Given the description of an element on the screen output the (x, y) to click on. 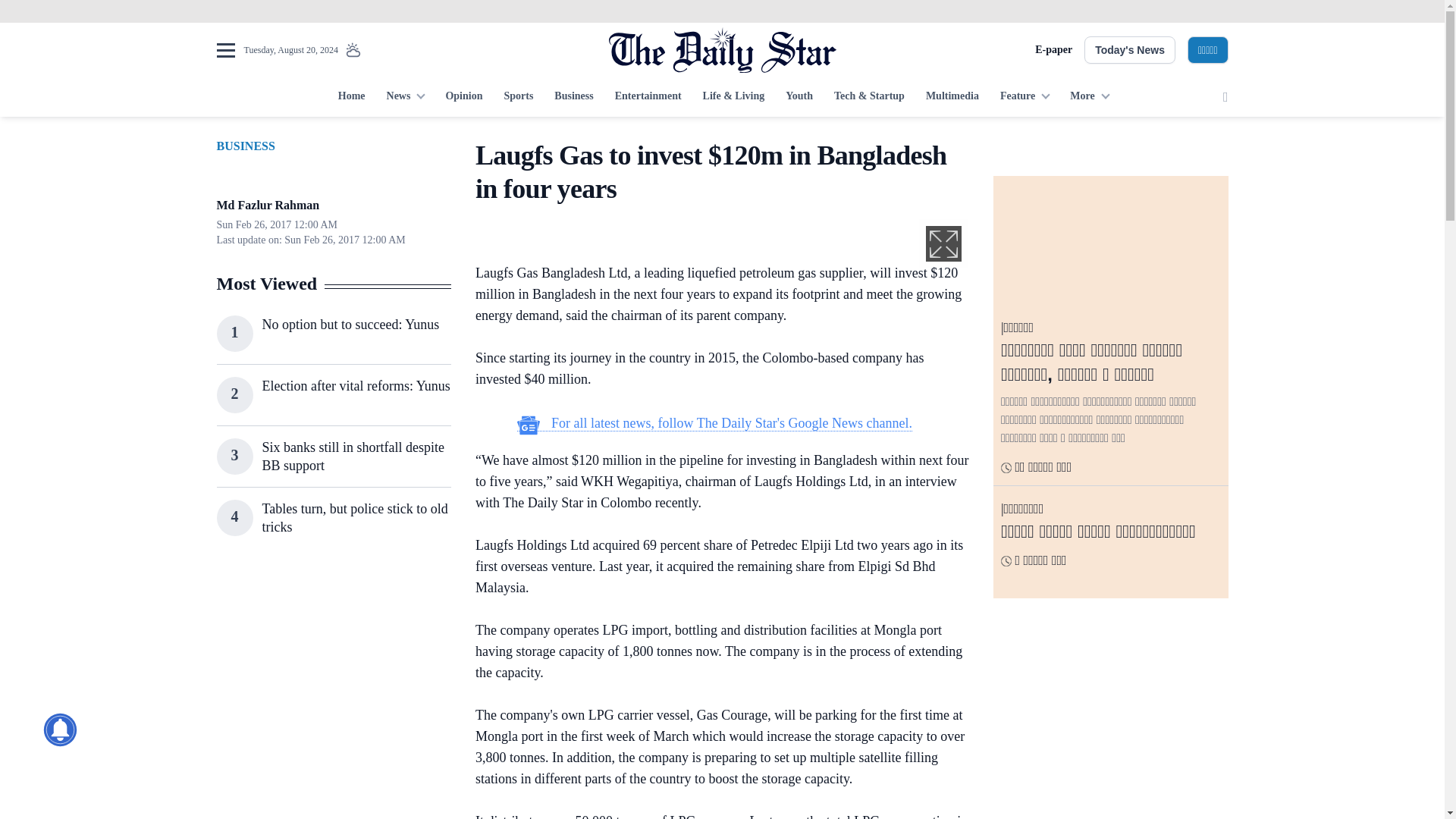
Multimedia (952, 96)
Feature (1024, 96)
Today's News (1129, 49)
E-paper (1053, 49)
Home (351, 96)
Sports (518, 96)
Opinion (463, 96)
Entertainment (647, 96)
News (405, 96)
